Given the description of an element on the screen output the (x, y) to click on. 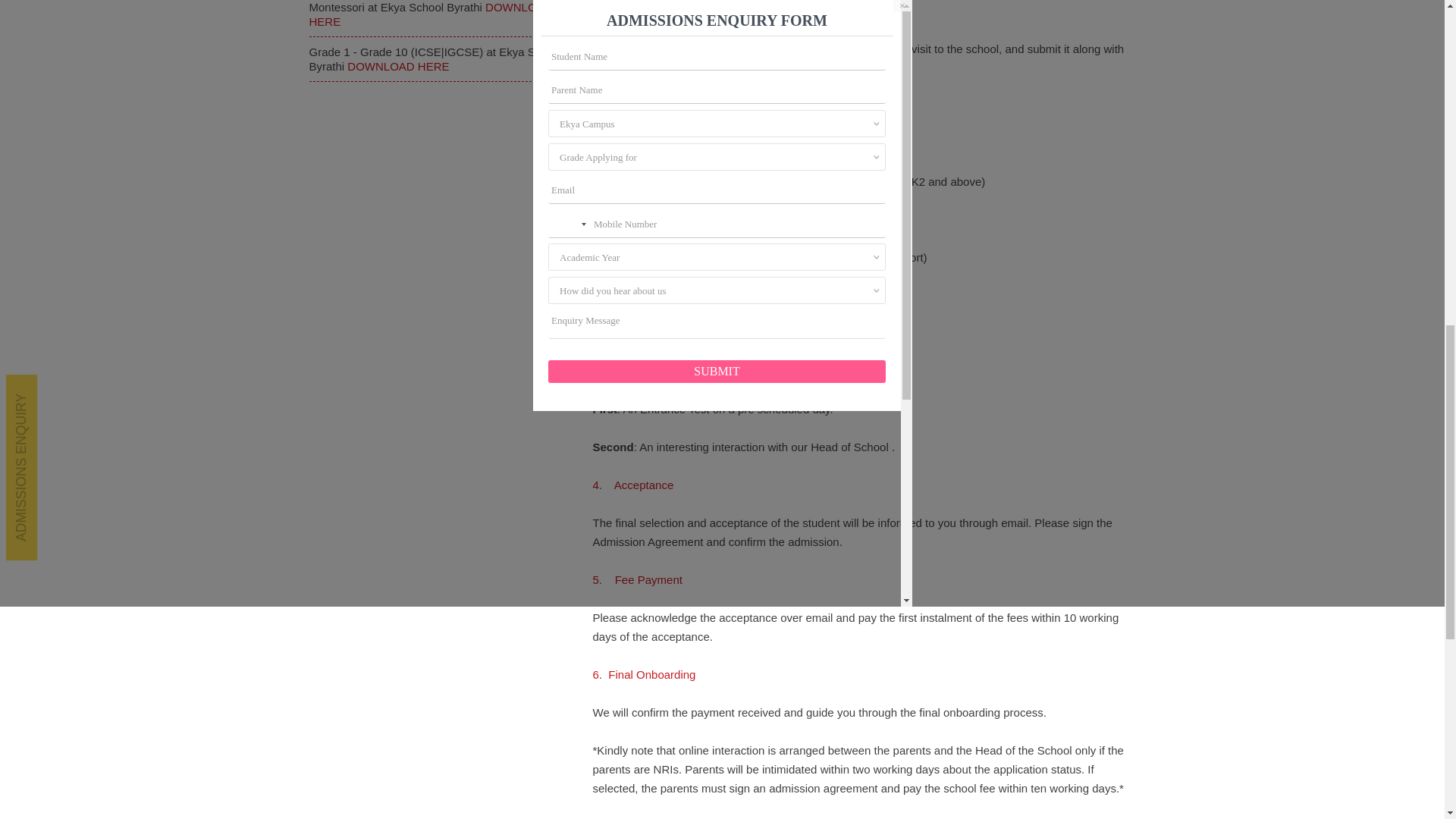
DOWNLOAD HERE (397, 65)
online (767, 48)
DOWNLOAD HERE (430, 13)
